Given the description of an element on the screen output the (x, y) to click on. 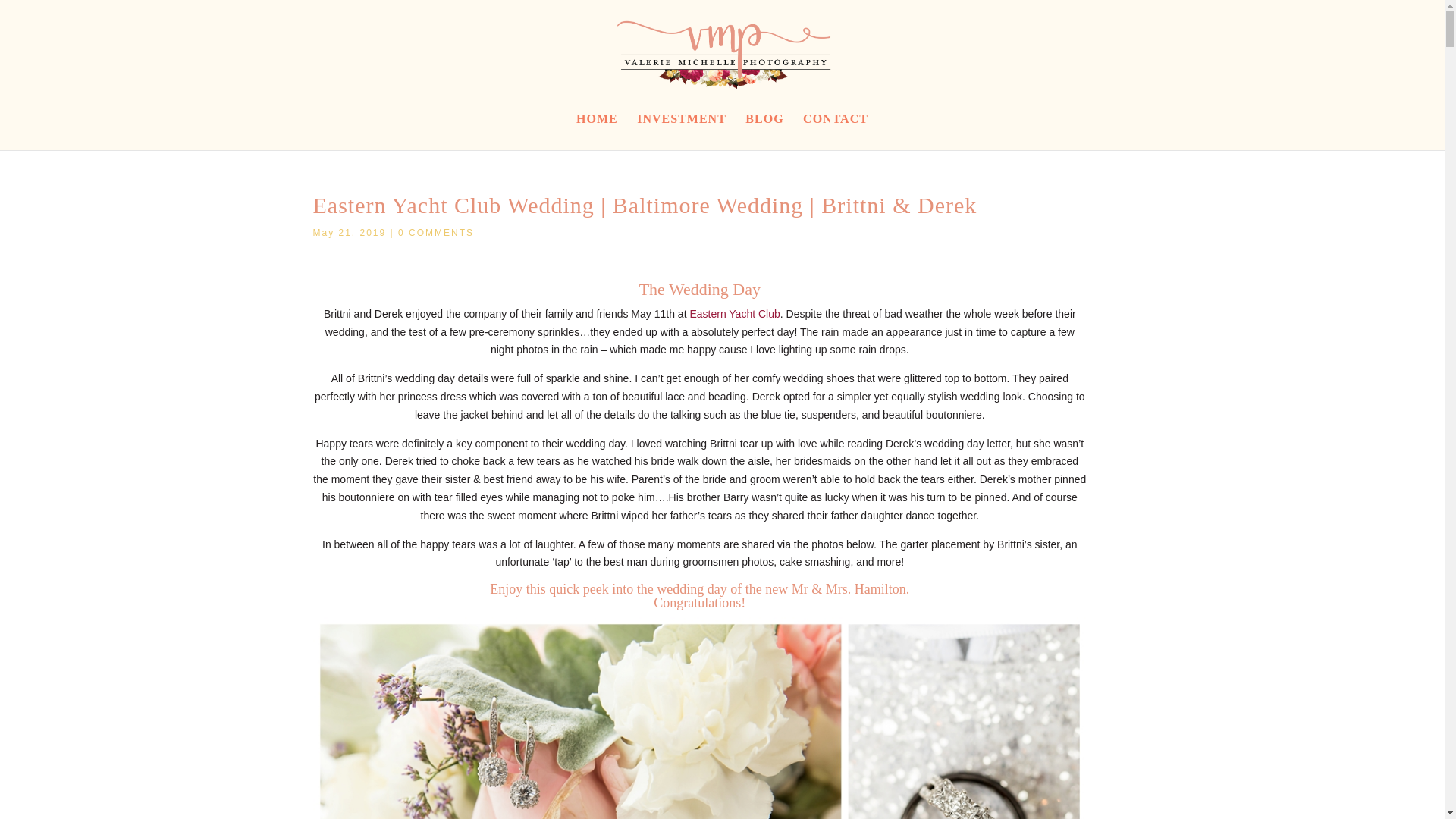
CONTACT (835, 127)
INVESTMENT (681, 127)
BLOG (764, 127)
0 COMMENTS (435, 232)
Eastern Yacht Club (733, 313)
HOME (596, 127)
